Given the description of an element on the screen output the (x, y) to click on. 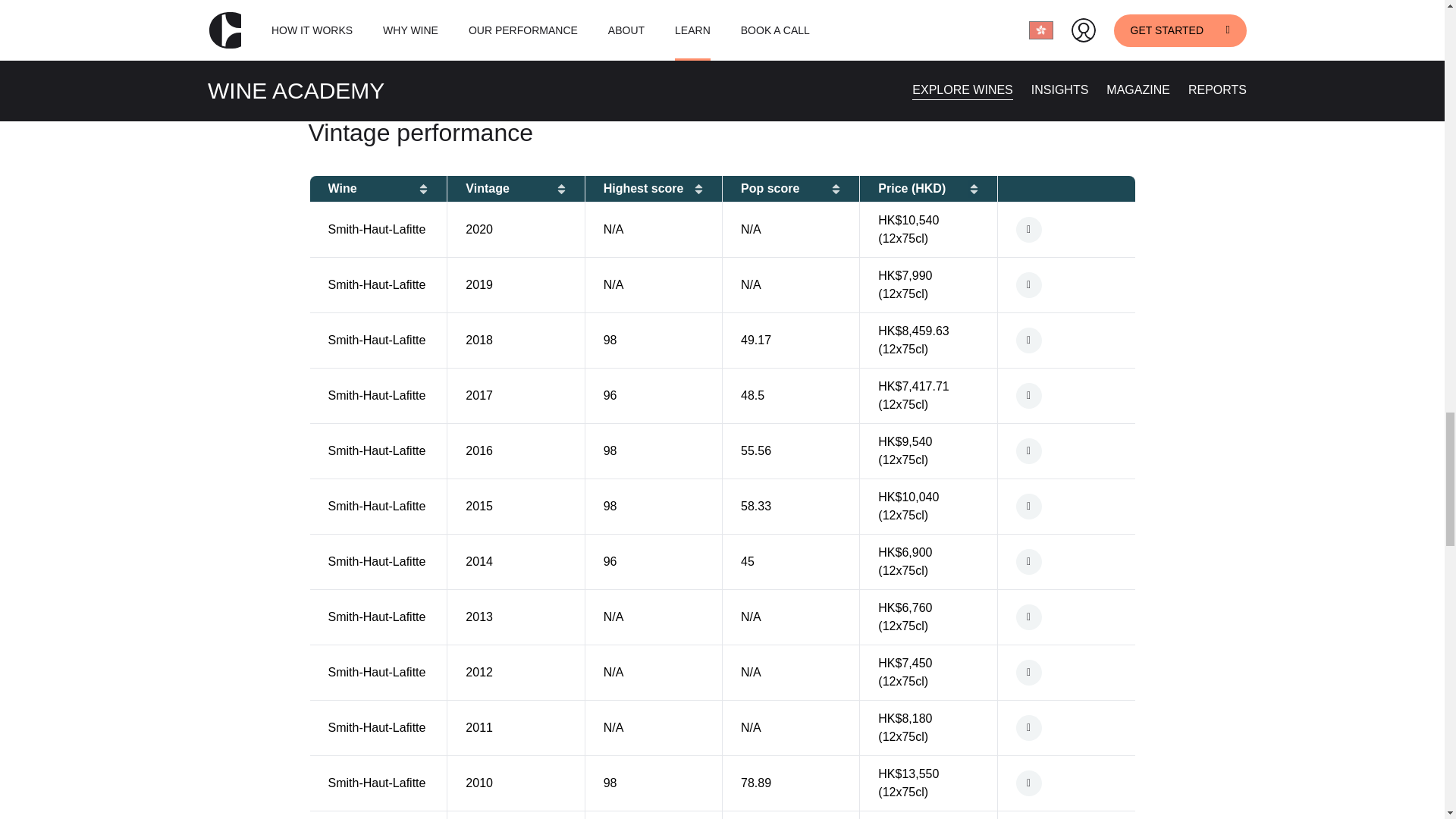
Smith-Haut-Lafitte, 2019 (1066, 284)
Smith-Haut-Lafitte, 2017 (1066, 395)
Smith-Haut-Lafitte, 2012 (1066, 672)
Smith-Haut-Lafitte, 2013 (1066, 616)
Smith-Haut-Lafitte, 2015 (1066, 506)
Smith-Haut-Lafitte, 2016 (1066, 451)
Smith-Haut-Lafitte, 2014 (1066, 561)
Smith-Haut-Lafitte, 2018 (1066, 339)
Smith-Haut-Lafitte, 2020 (1066, 229)
